Given the description of an element on the screen output the (x, y) to click on. 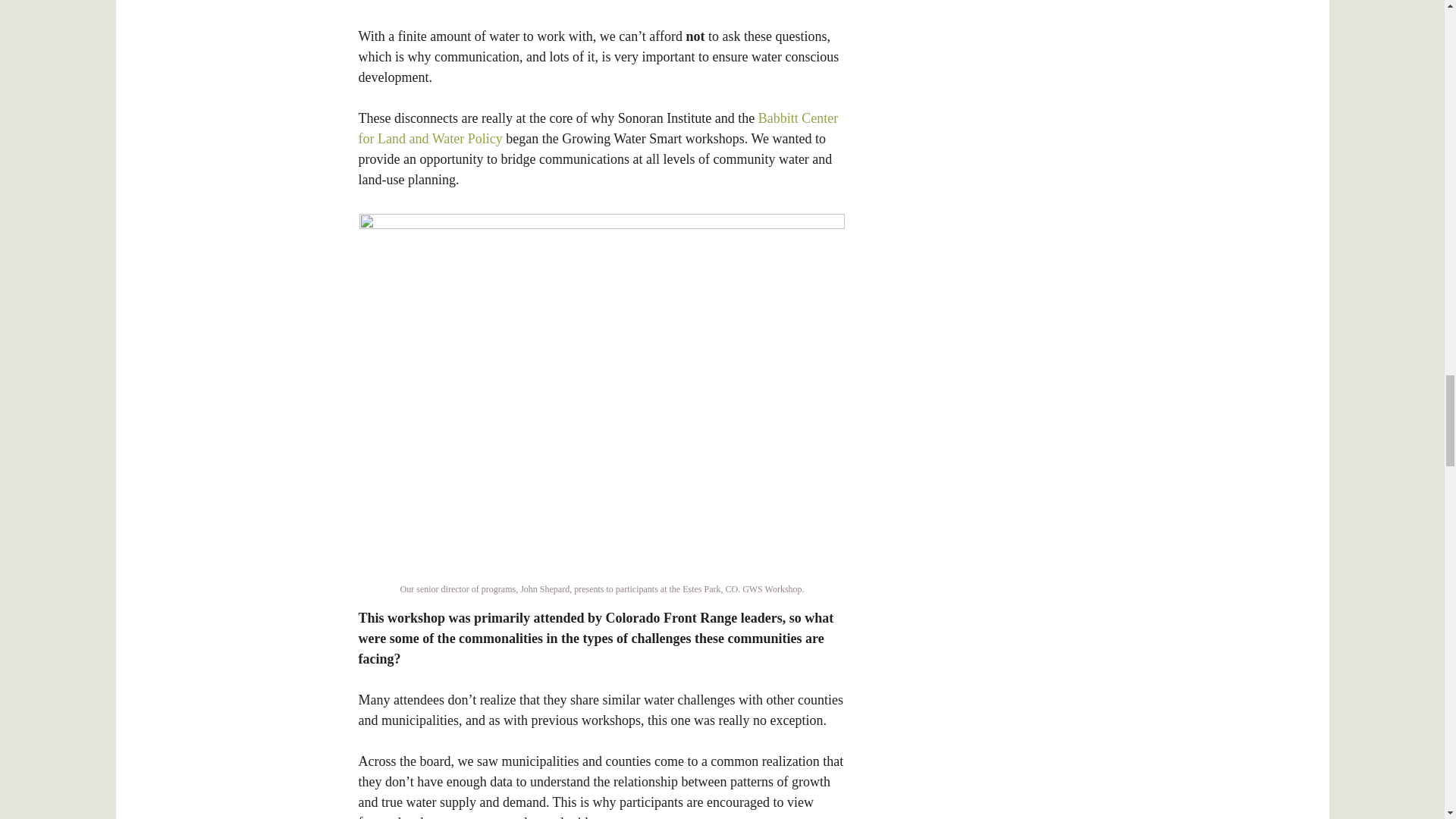
Babbitt Center for Land and Water Policy (598, 128)
